Given the description of an element on the screen output the (x, y) to click on. 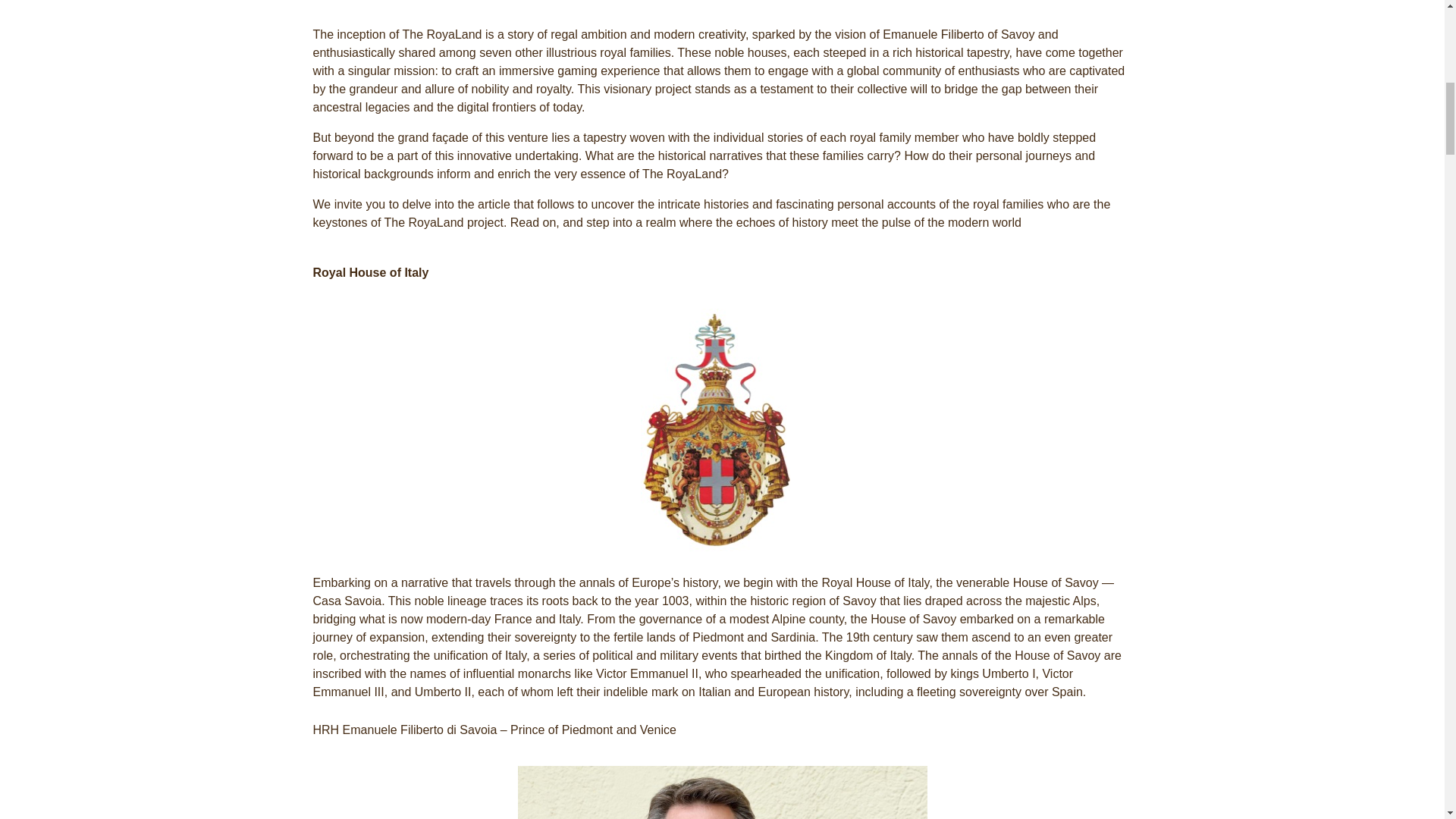
emanuele-filiberto (721, 792)
